Given the description of an element on the screen output the (x, y) to click on. 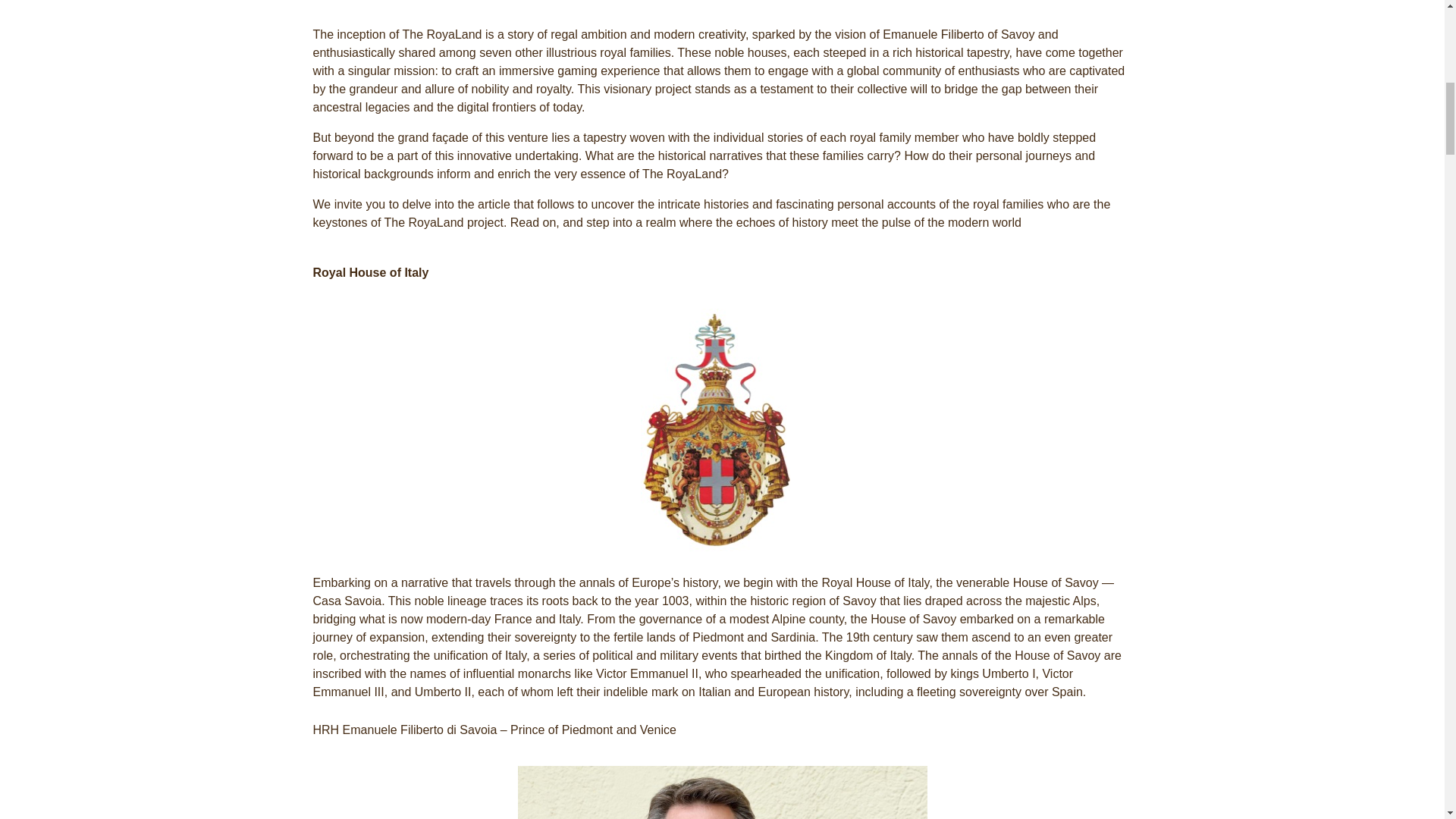
emanuele-filiberto (721, 792)
